Given the description of an element on the screen output the (x, y) to click on. 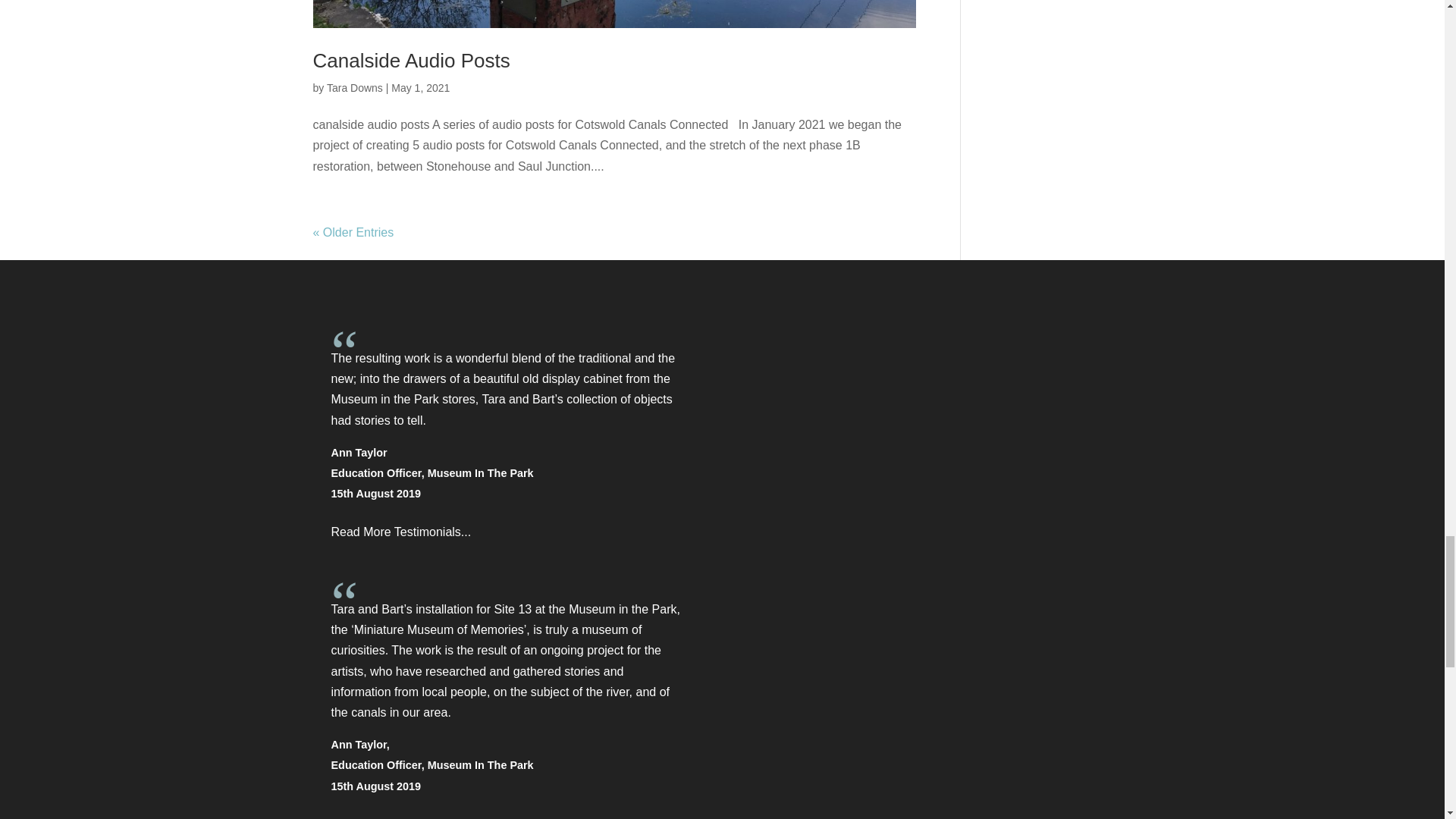
Canalside Audio Posts (411, 60)
Museum in the Park (623, 608)
Posts by Tara Downs (354, 87)
Read More Testimonials... (400, 531)
Tara Downs (354, 87)
Read More Testimonials... (400, 818)
